Given the description of an element on the screen output the (x, y) to click on. 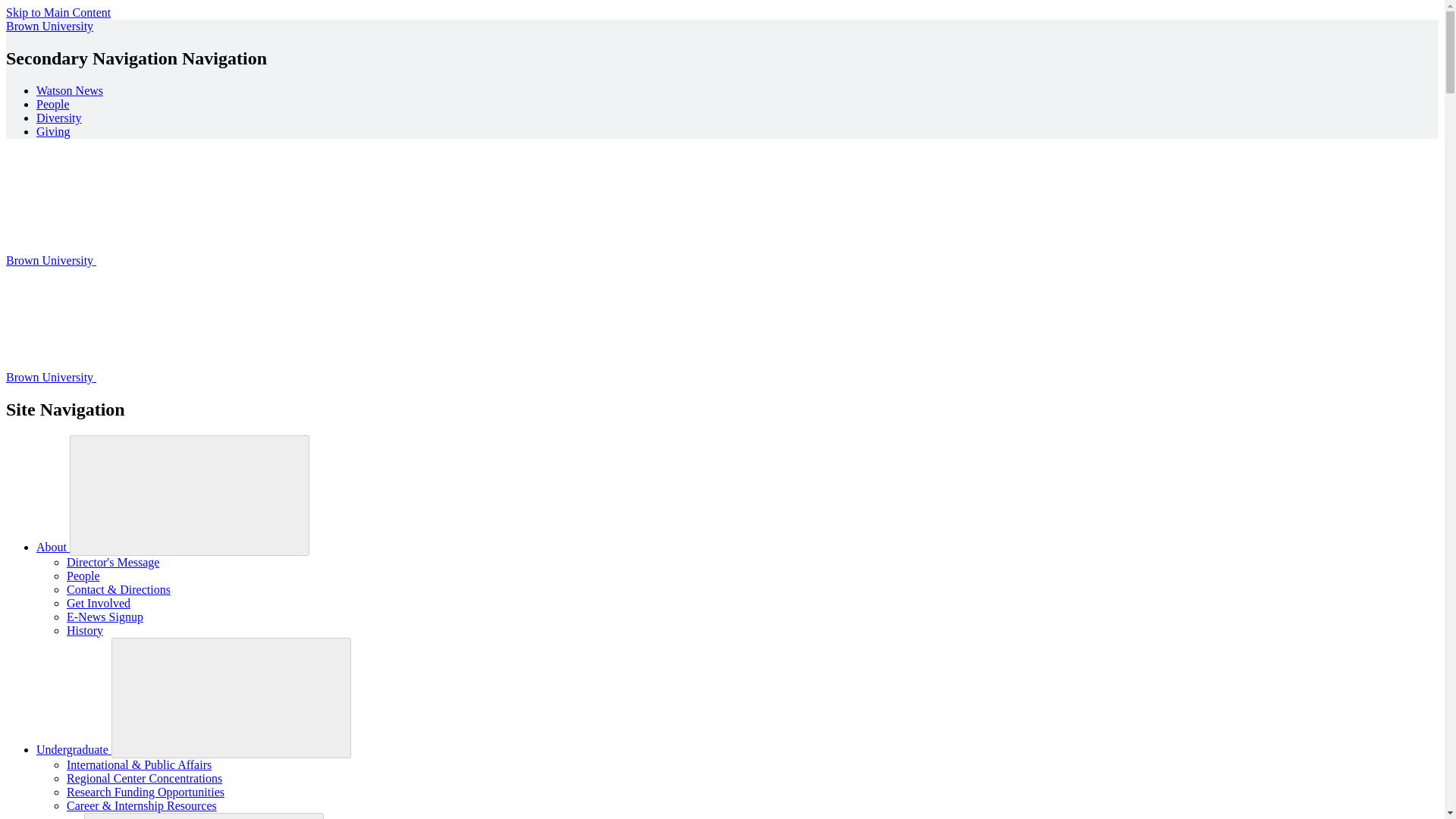
E-News Signup (104, 616)
Research Funding Opportunities (145, 791)
Regional Center Concentrations (144, 778)
Brown University (164, 259)
About (52, 546)
Skip to Main Content (57, 11)
History (84, 630)
Undergraduate (74, 748)
People (52, 103)
Watson News (69, 90)
Director's Message (112, 562)
Brown University (49, 25)
Brown University (164, 377)
Get Involved (98, 603)
Diversity (58, 117)
